Given the description of an element on the screen output the (x, y) to click on. 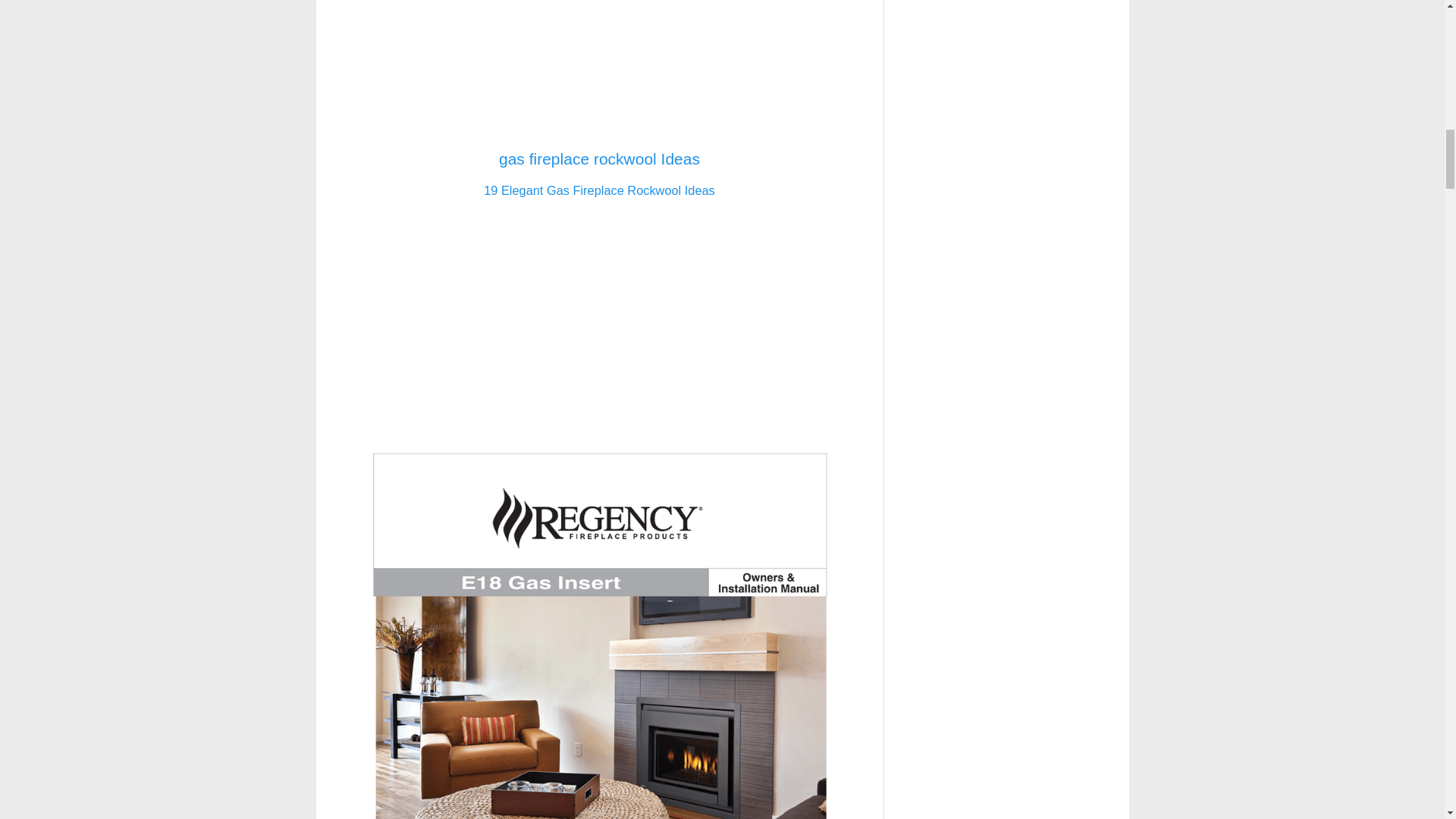
Advertisement (599, 318)
Advertisement (599, 68)
